Given the description of an element on the screen output the (x, y) to click on. 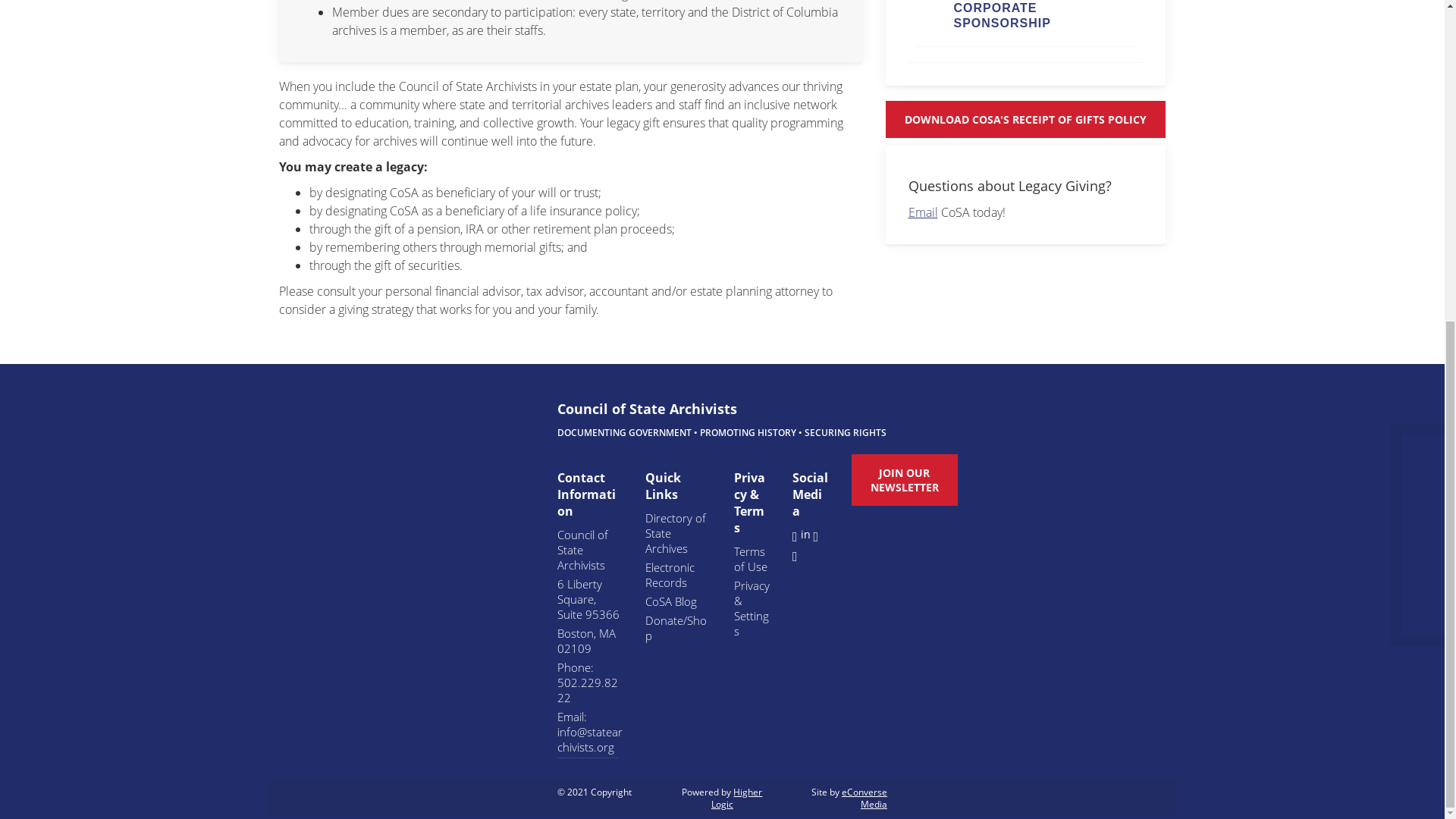
PDF "CoSA's Bylaws 2020" (1025, 119)
LinkedIn (805, 534)
